Given the description of an element on the screen output the (x, y) to click on. 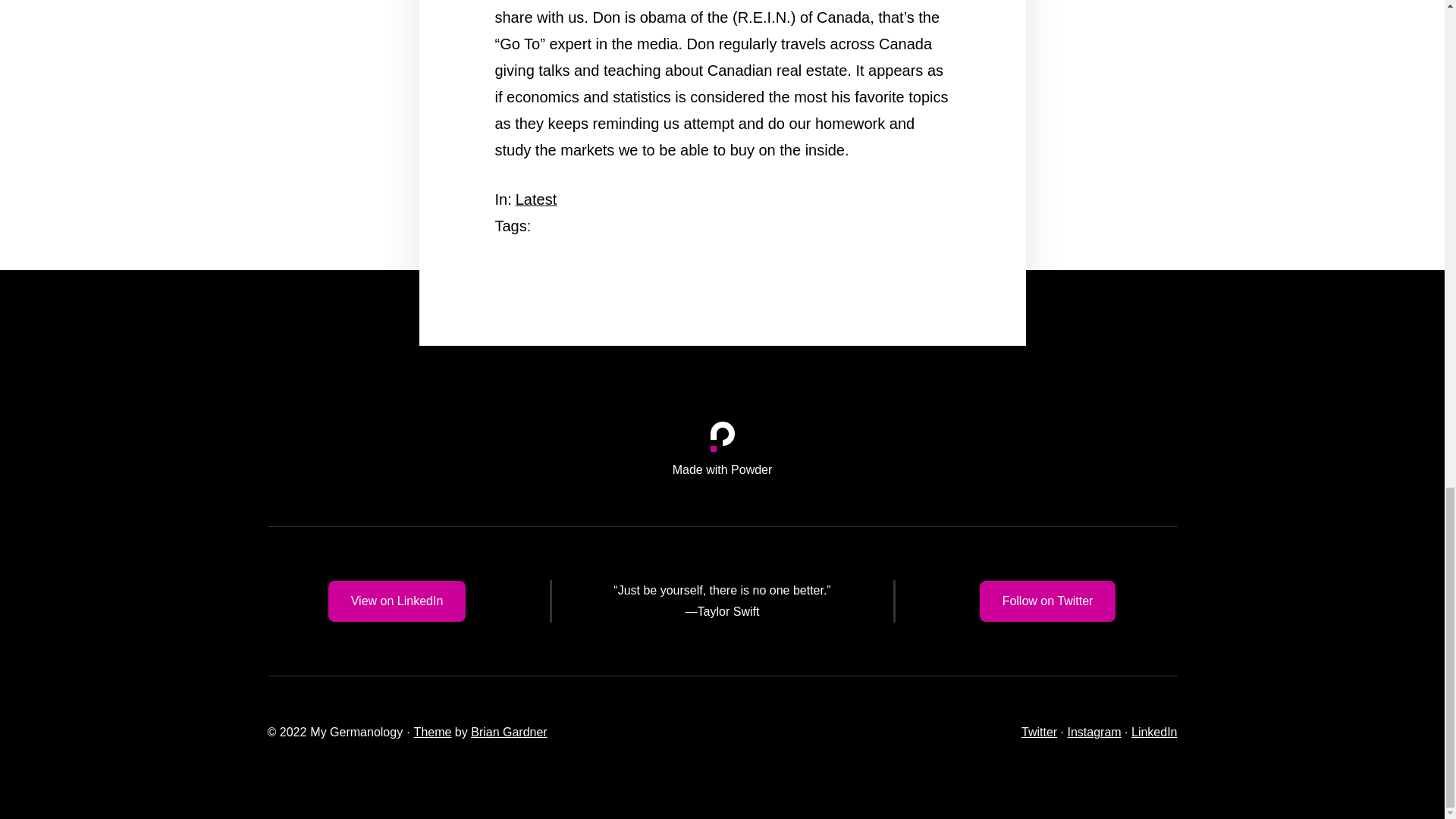
View on LinkedIn (397, 600)
Theme (432, 731)
Brian Gardner (508, 731)
LinkedIn (1154, 731)
Follow on Twitter (1047, 600)
Latest (535, 199)
Instagram (1094, 731)
Twitter (1039, 731)
